Given the description of an element on the screen output the (x, y) to click on. 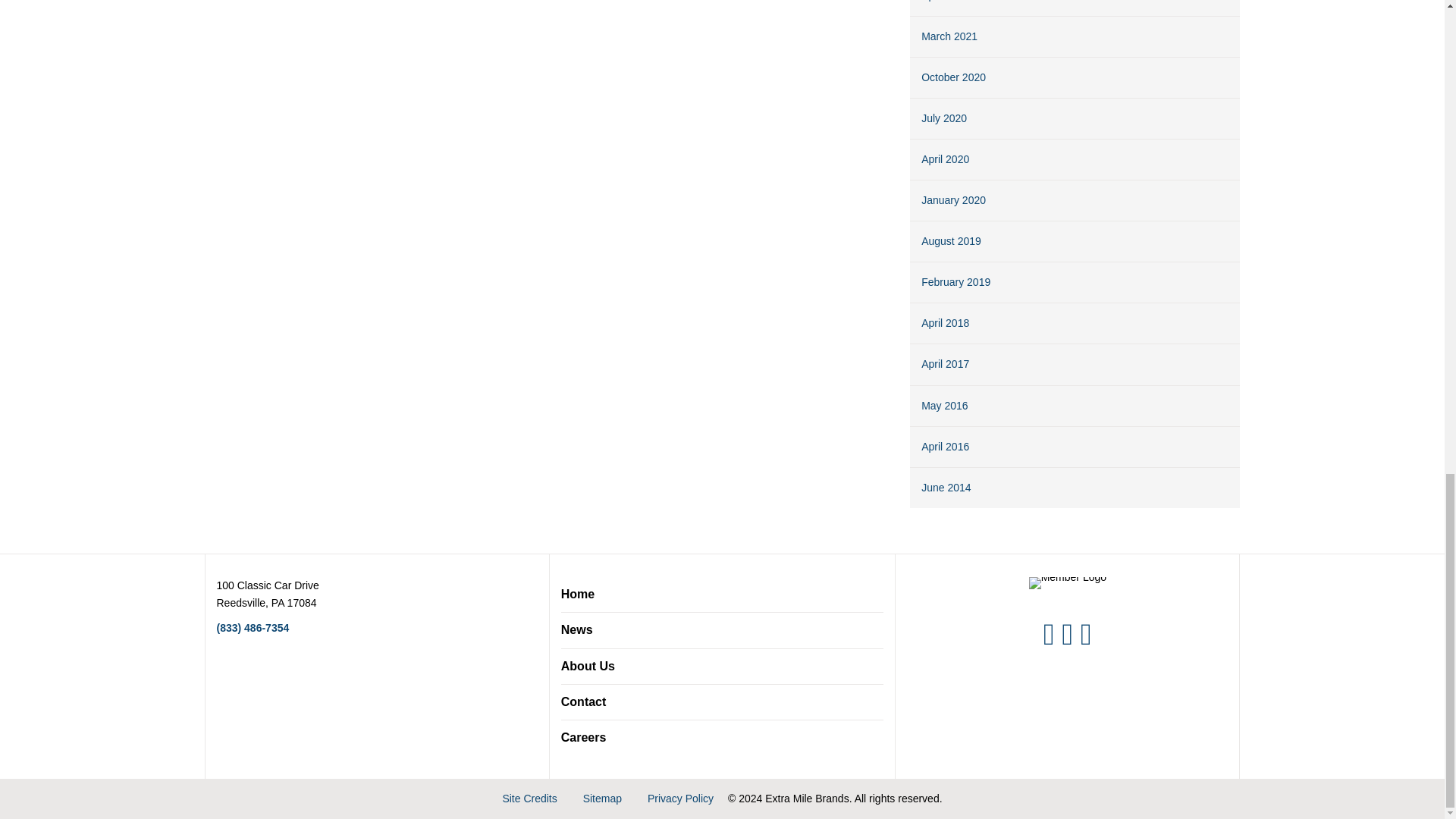
Member Logo (1067, 582)
April 2021 (945, 0)
March 2021 (948, 36)
